Given the description of an element on the screen output the (x, y) to click on. 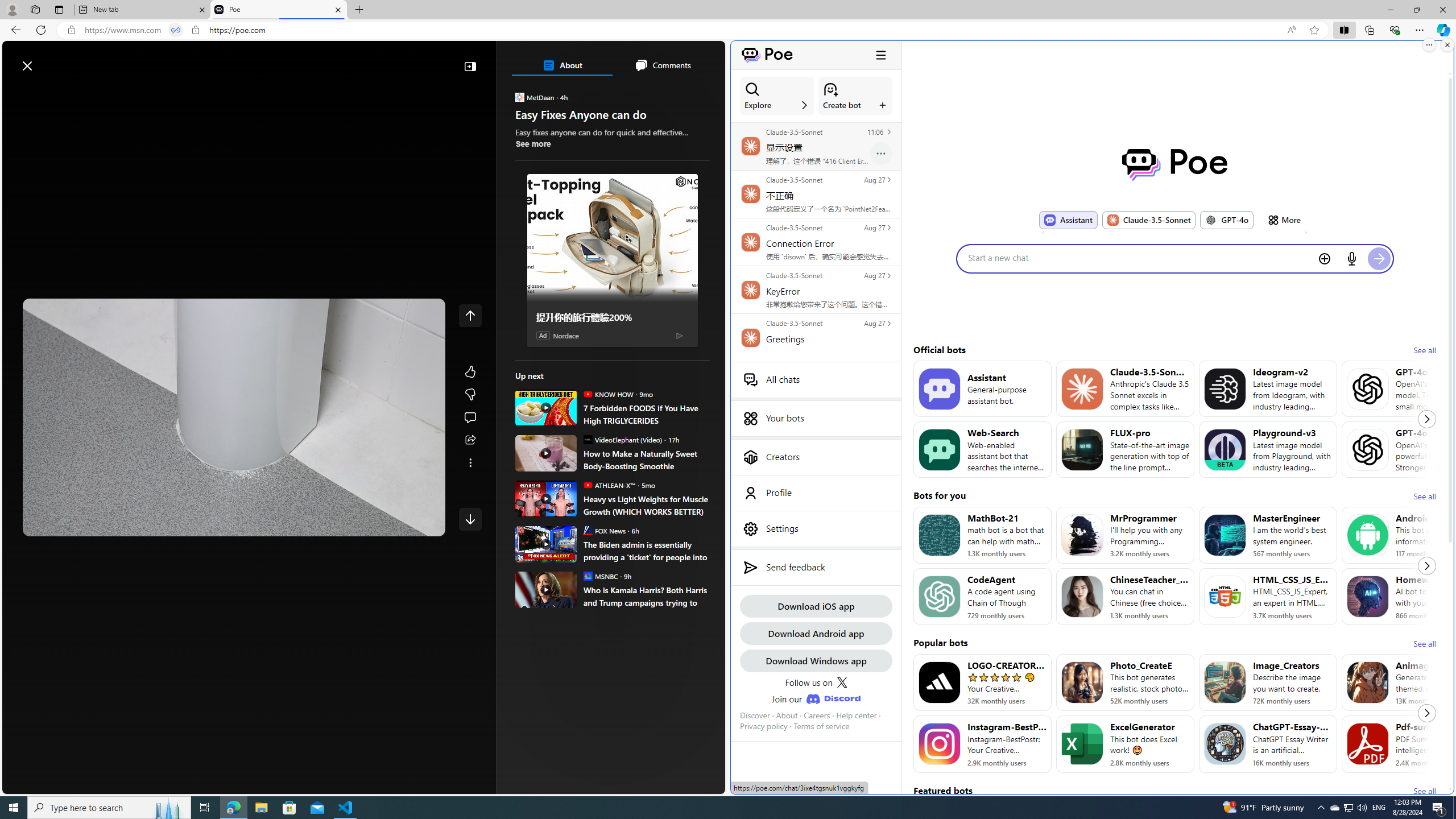
Class: control icon-only (469, 315)
Share this story (469, 440)
Start a new chat (1138, 257)
Bot image for MasterEngineer (1224, 534)
Poe (1174, 164)
